Given the description of an element on the screen output the (x, y) to click on. 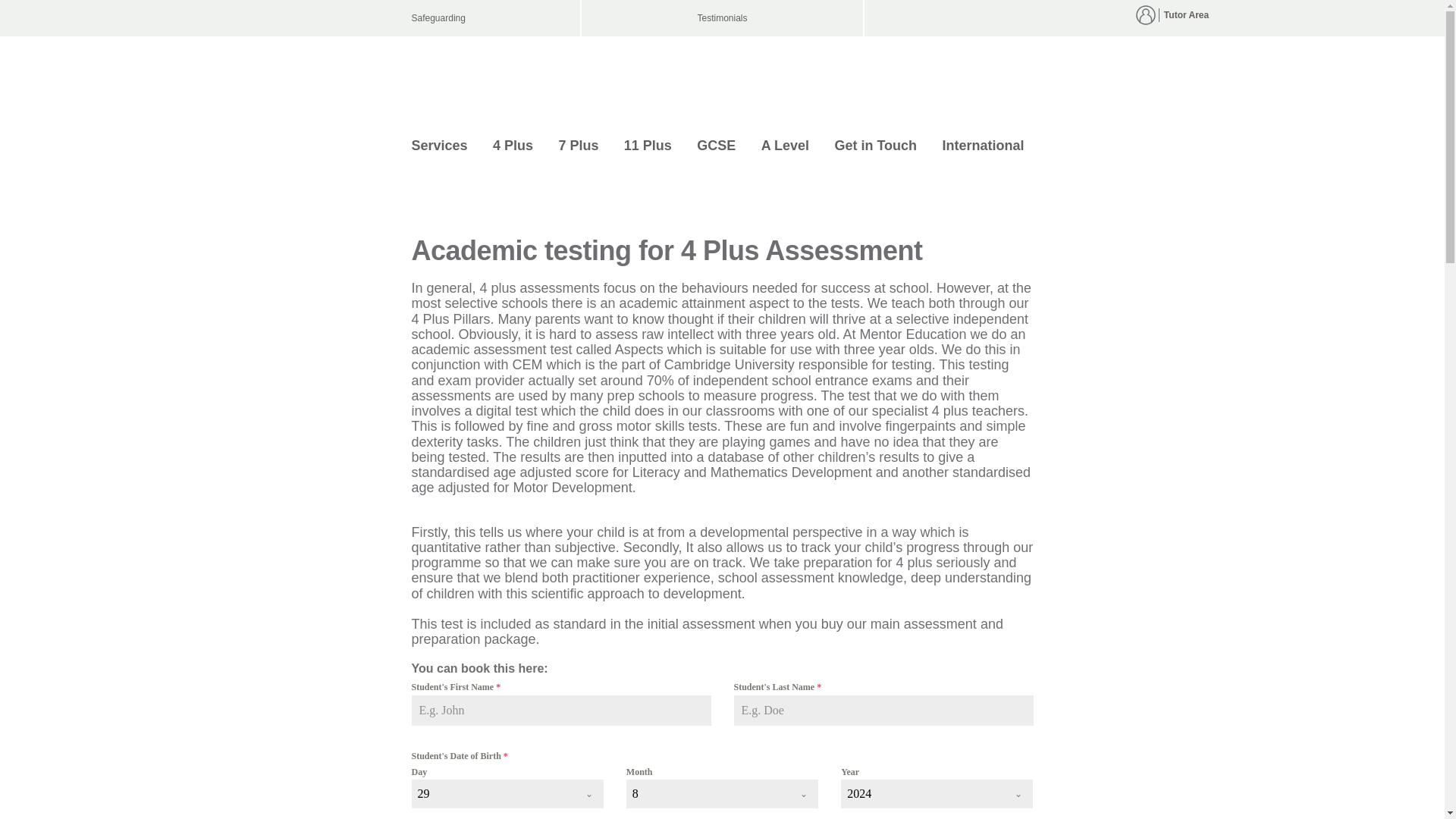
29 (491, 793)
2024 (922, 793)
Services (438, 145)
Safeguarding (488, 18)
Tutor Area (1185, 15)
8 (707, 793)
Testimonials (722, 18)
4 Plus (512, 145)
